Given the description of an element on the screen output the (x, y) to click on. 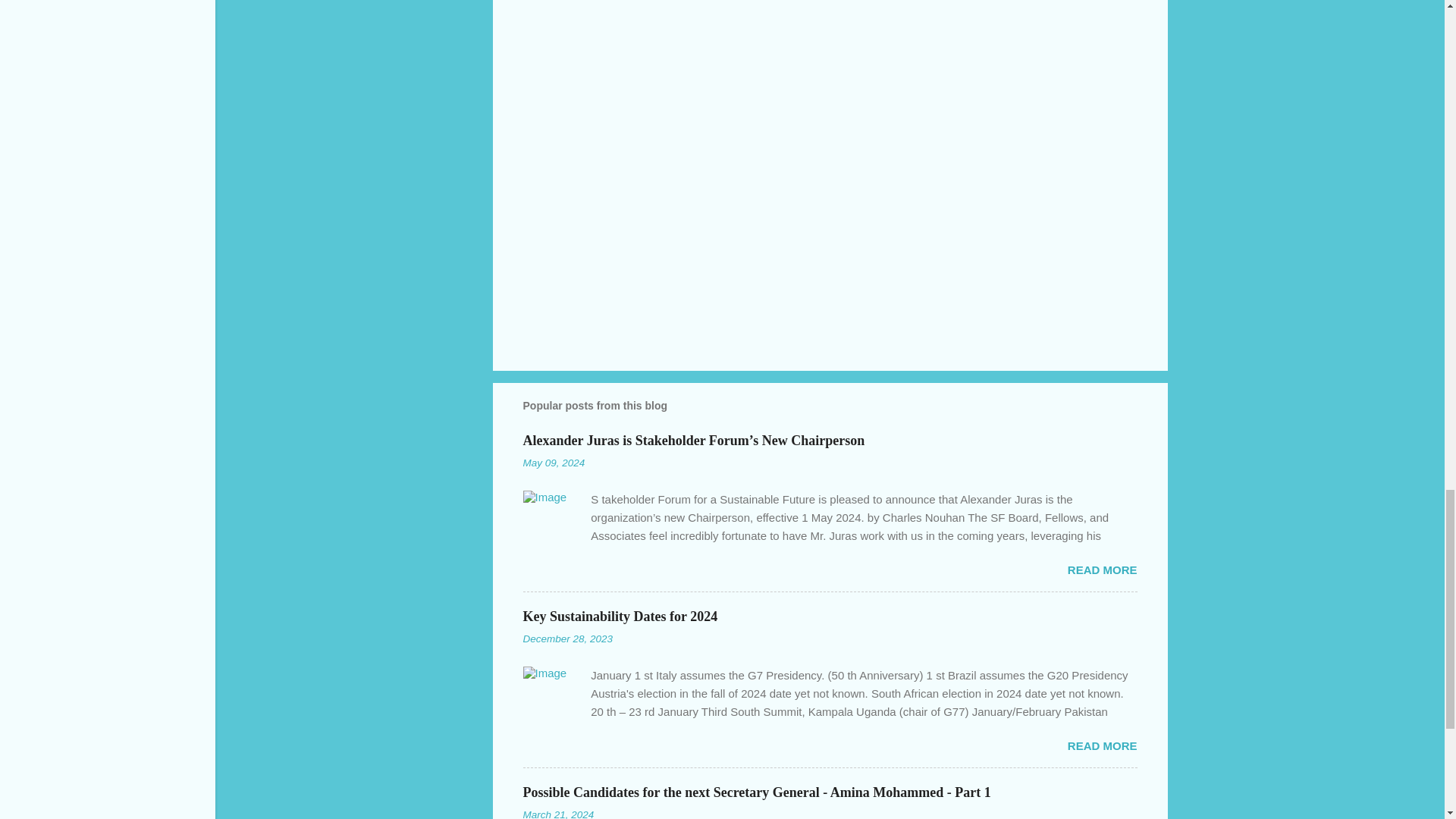
READ MORE (1102, 569)
READ MORE (1102, 745)
December 28, 2023 (567, 638)
March 21, 2024 (558, 814)
Key Sustainability Dates for 2024 (619, 616)
permanent link (553, 462)
May 09, 2024 (553, 462)
